Given the description of an element on the screen output the (x, y) to click on. 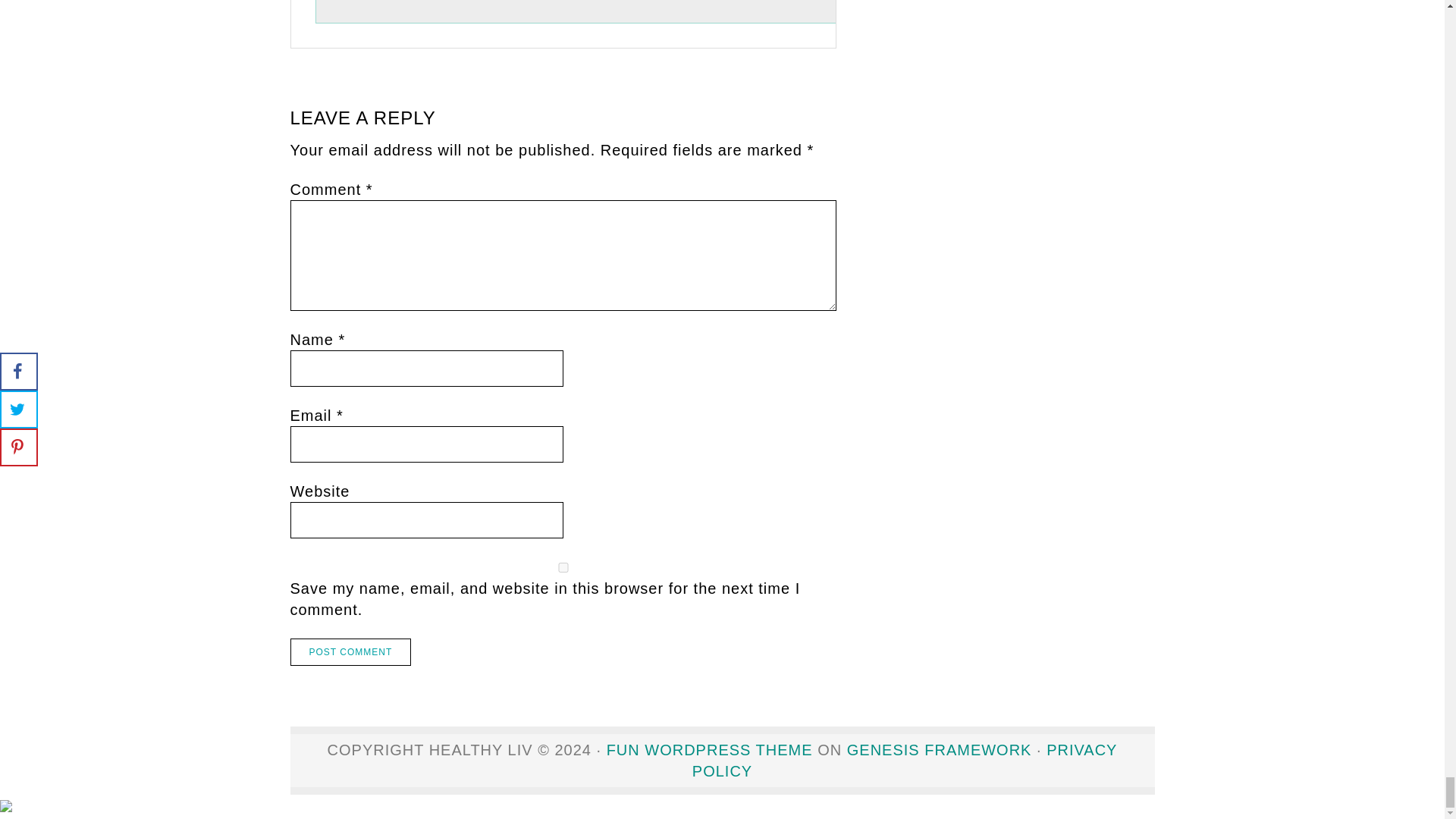
yes (562, 567)
Post Comment (349, 651)
